Given the description of an element on the screen output the (x, y) to click on. 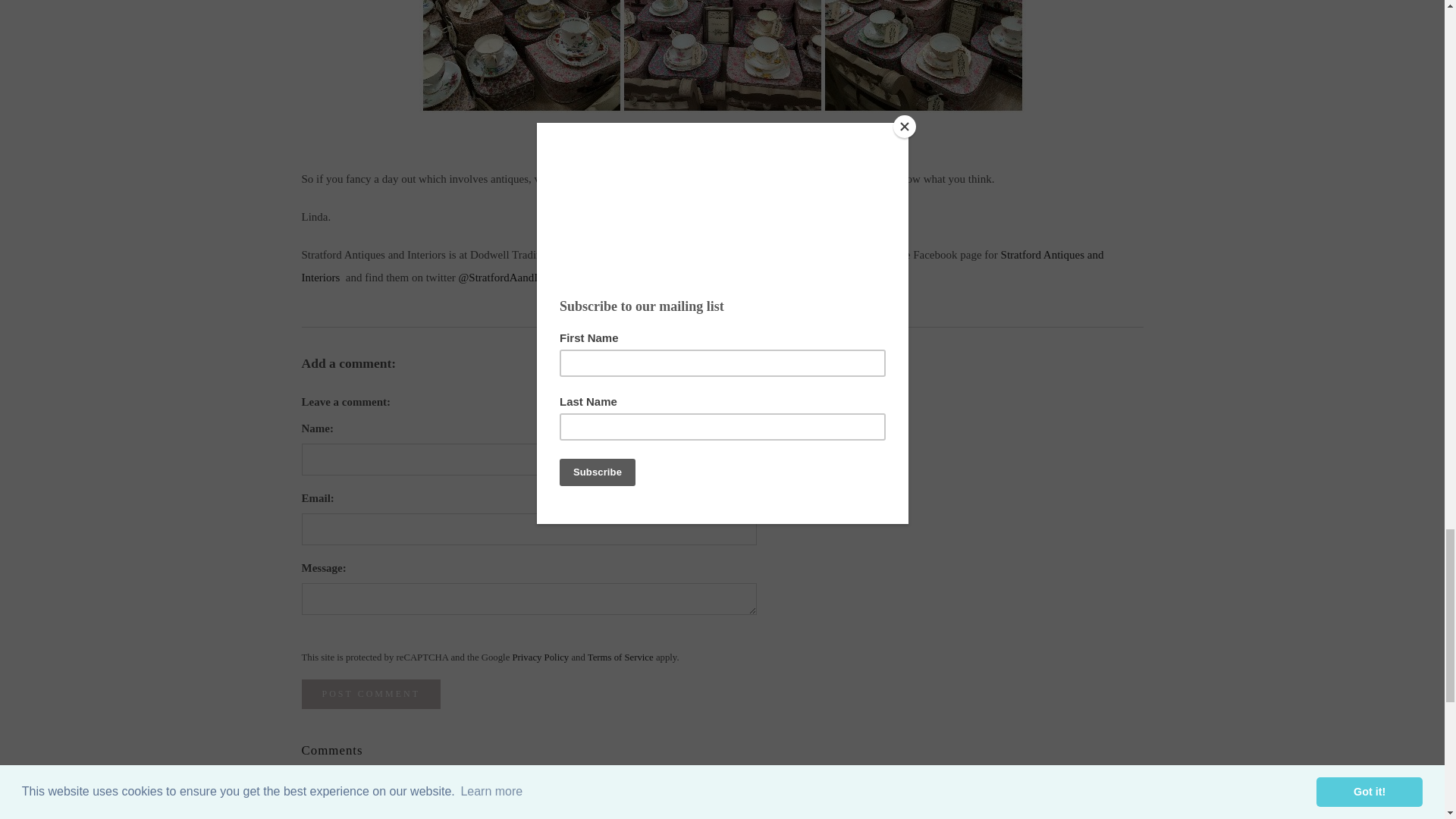
Stratford Antiques and Interiors (702, 265)
Privacy Policy (540, 656)
